Given the description of an element on the screen output the (x, y) to click on. 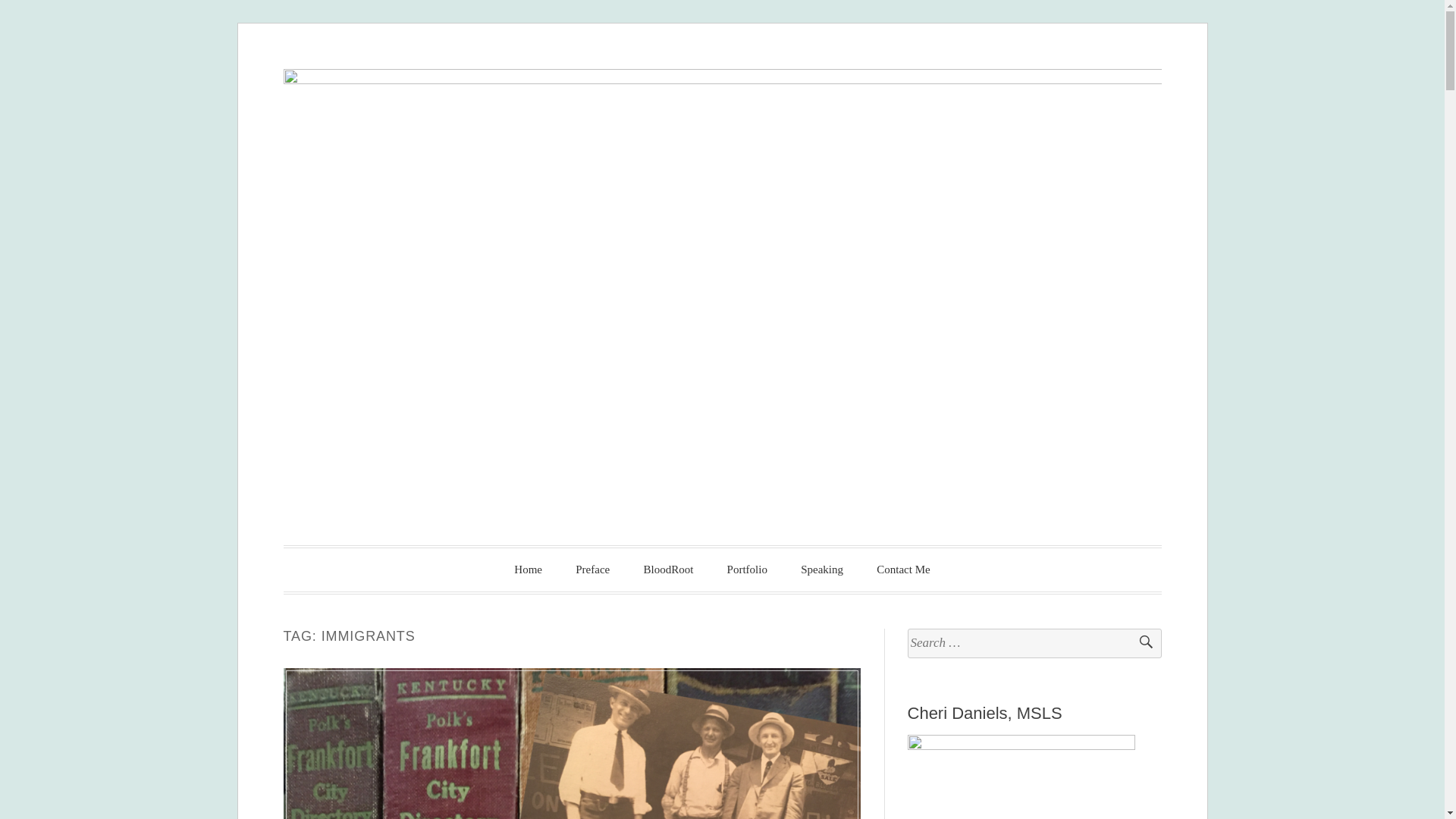
BloodRoot (667, 570)
Contact Me (902, 570)
Genealogy Literacy (528, 568)
Speaking (822, 570)
Portfolio (747, 570)
Search (1138, 643)
Preface (592, 570)
Search (1138, 643)
Search (1138, 643)
Home (528, 570)
